Given the description of an element on the screen output the (x, y) to click on. 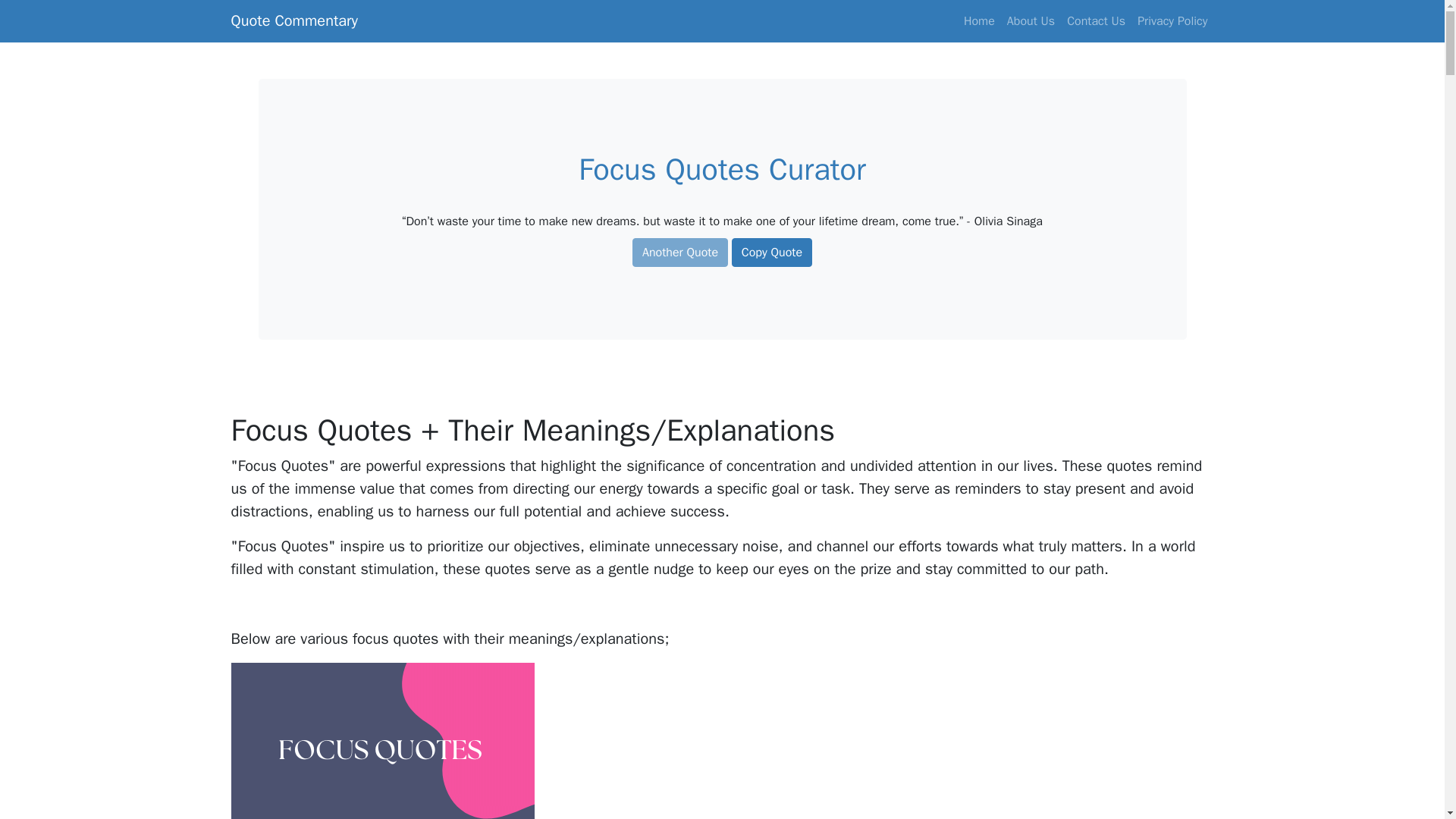
Contact Us (1096, 20)
Home (979, 20)
Quote Commentary (293, 20)
Another Quote (679, 252)
Copy Quote (772, 252)
About Us (1031, 20)
Privacy Policy (1171, 20)
